Given the description of an element on the screen output the (x, y) to click on. 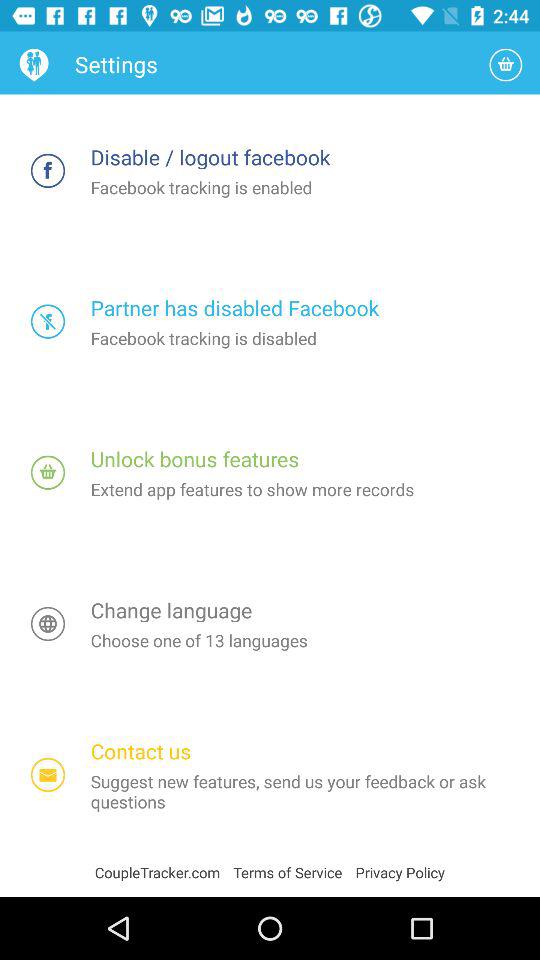
scroll to partner has disabled icon (302, 306)
